Given the description of an element on the screen output the (x, y) to click on. 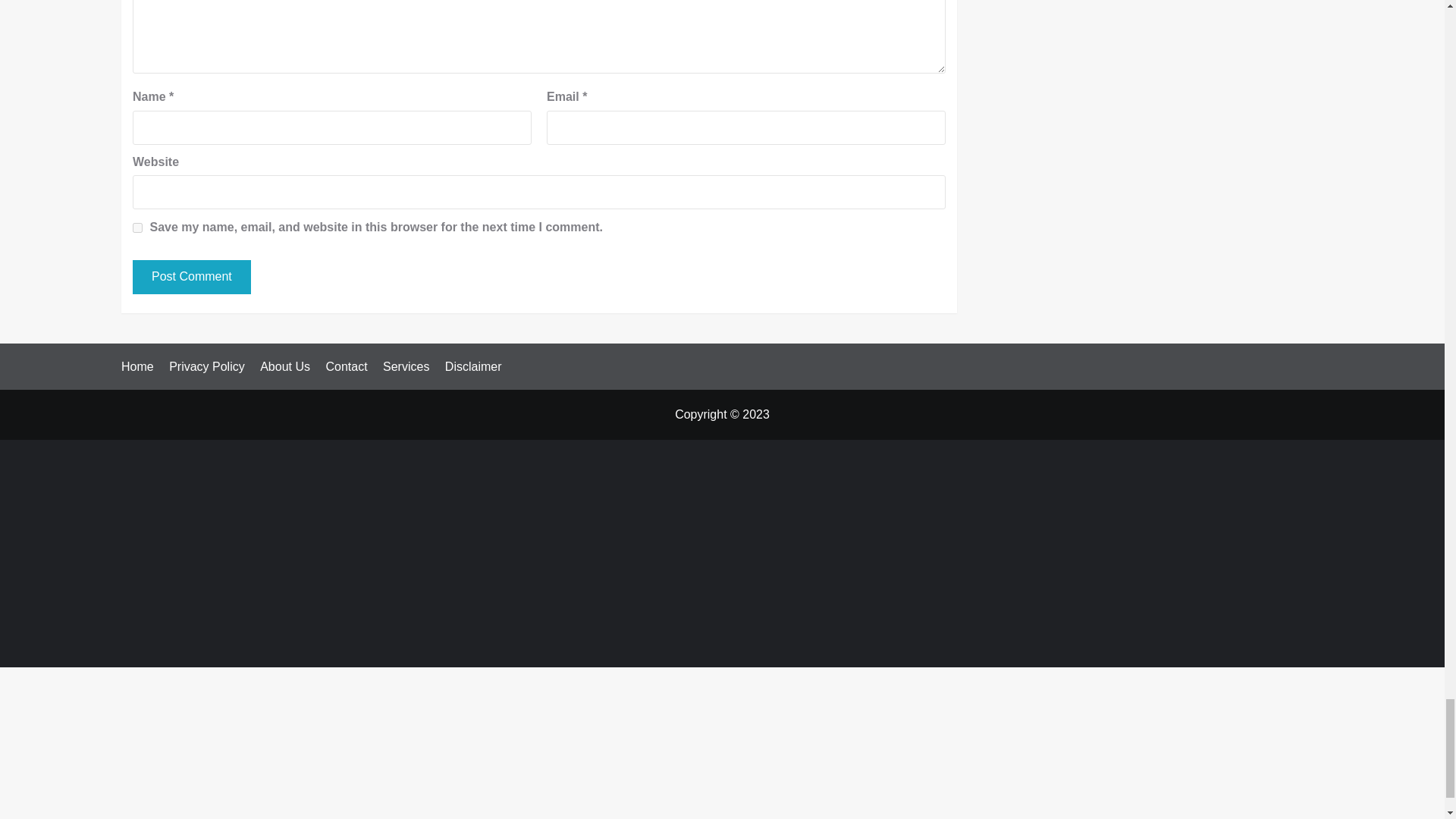
yes (137, 227)
Post Comment (191, 277)
Post Comment (191, 277)
